Given the description of an element on the screen output the (x, y) to click on. 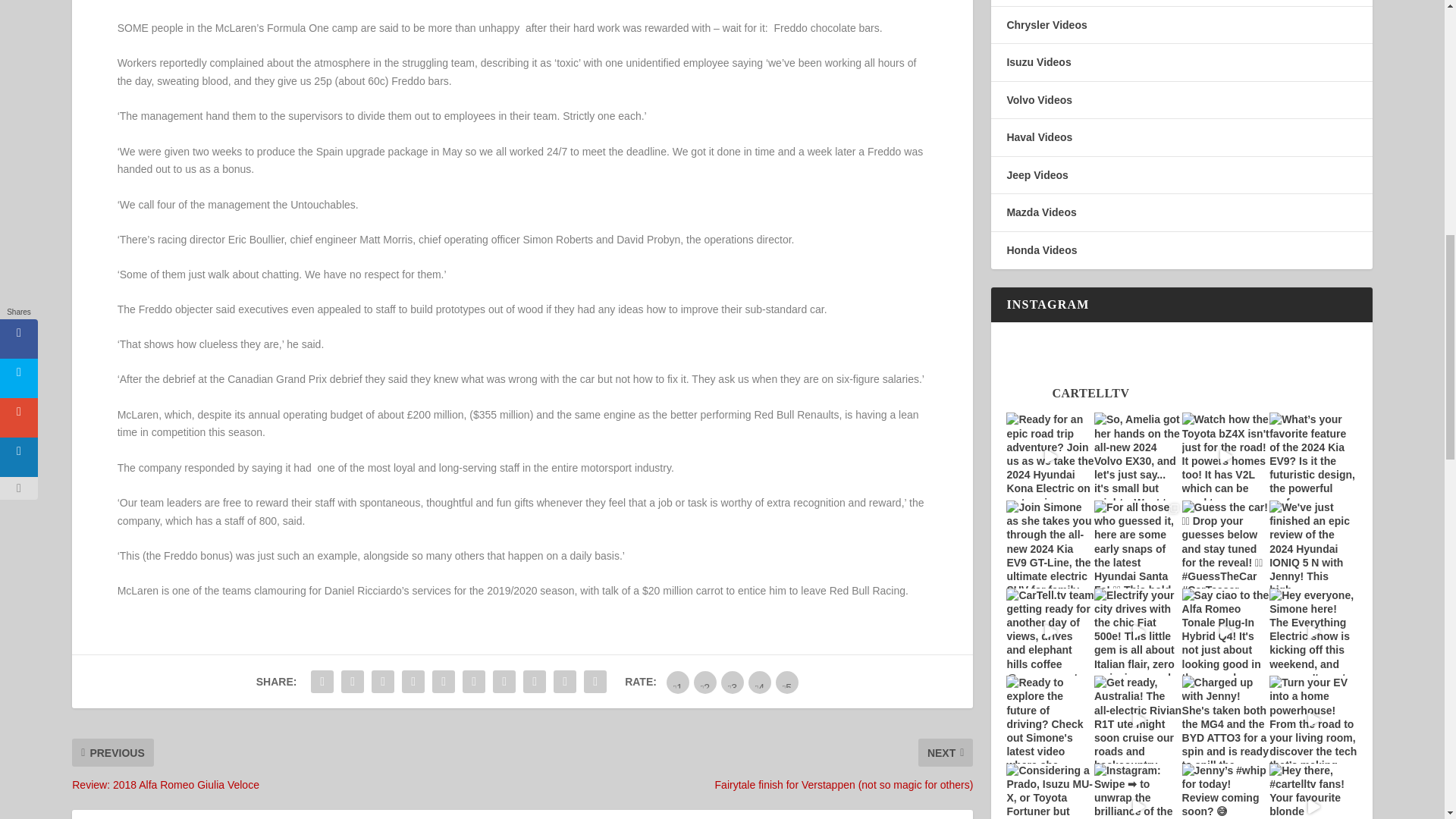
Share "Freddos all round for McLaren camp" via Buffer (504, 681)
Share "Freddos all round for McLaren camp" via Pinterest (443, 681)
Share "Freddos all round for McLaren camp" via Tumblr (412, 681)
Share "Freddos all round for McLaren camp" via LinkedIn (473, 681)
Share "Freddos all round for McLaren camp" via Facebook (322, 681)
Share "Freddos all round for McLaren camp" via Twitter (352, 681)
